Given the description of an element on the screen output the (x, y) to click on. 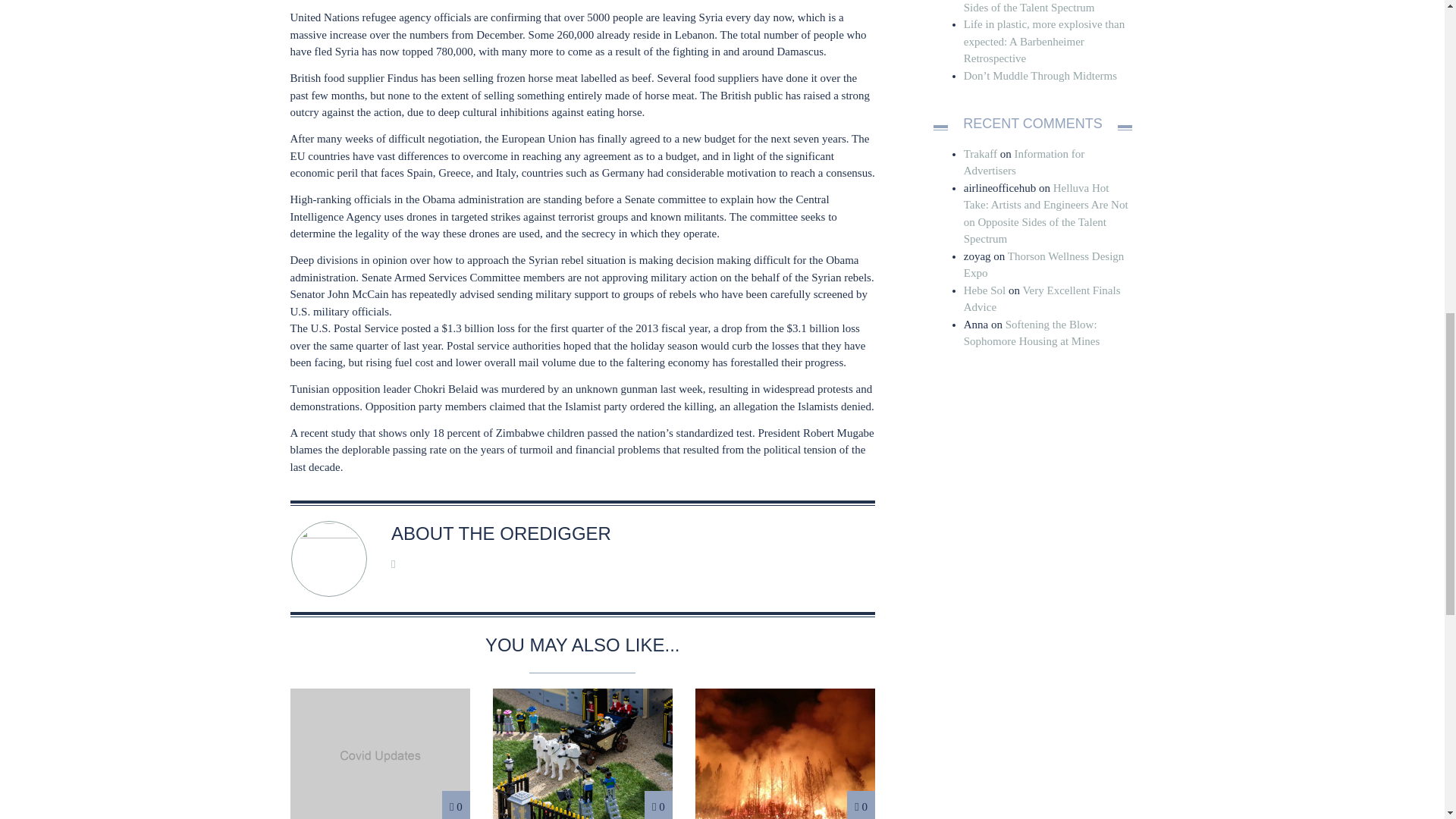
Posts by The Oredigger (534, 533)
